Given the description of an element on the screen output the (x, y) to click on. 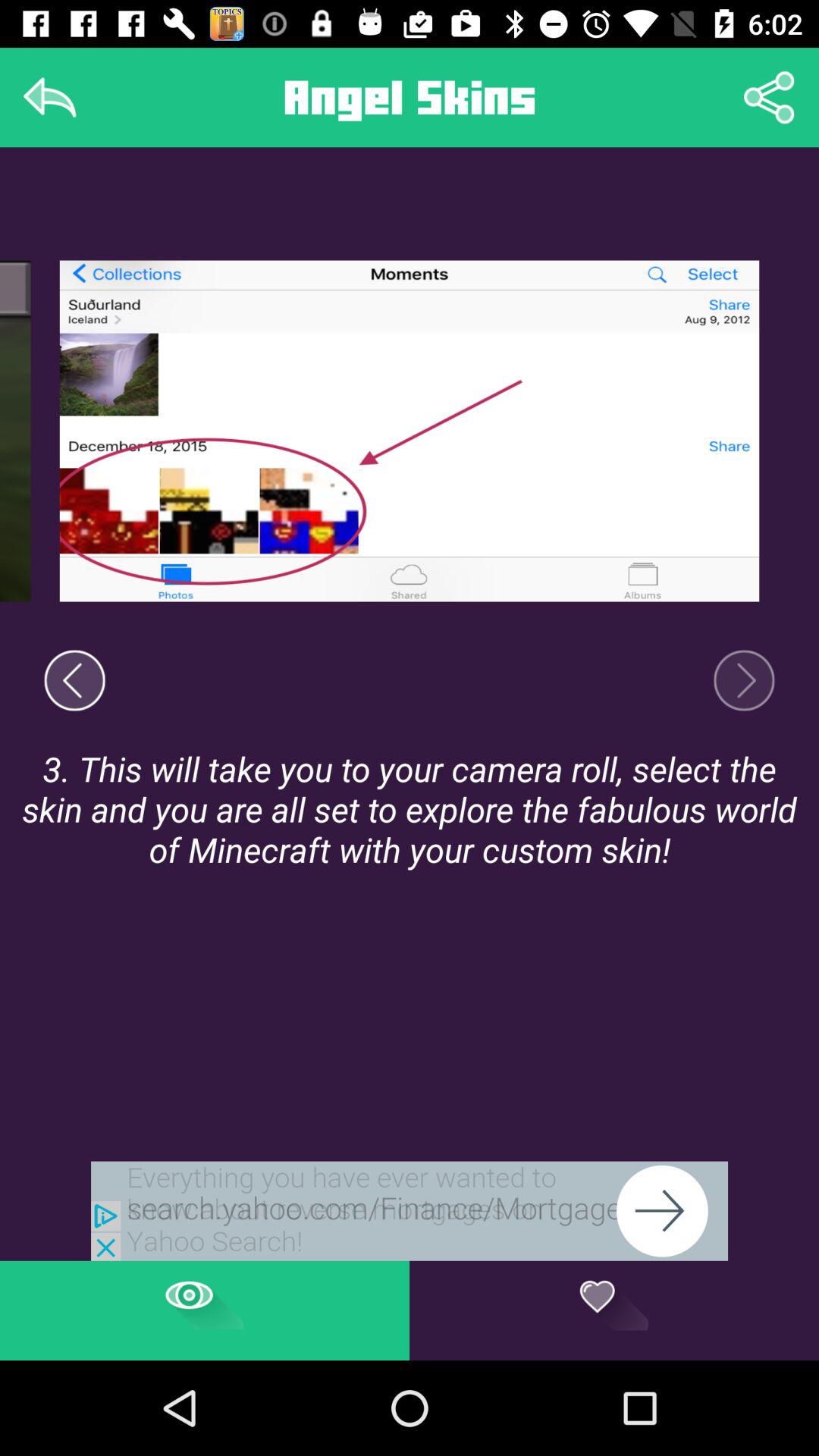
view the page (204, 1310)
